Given the description of an element on the screen output the (x, y) to click on. 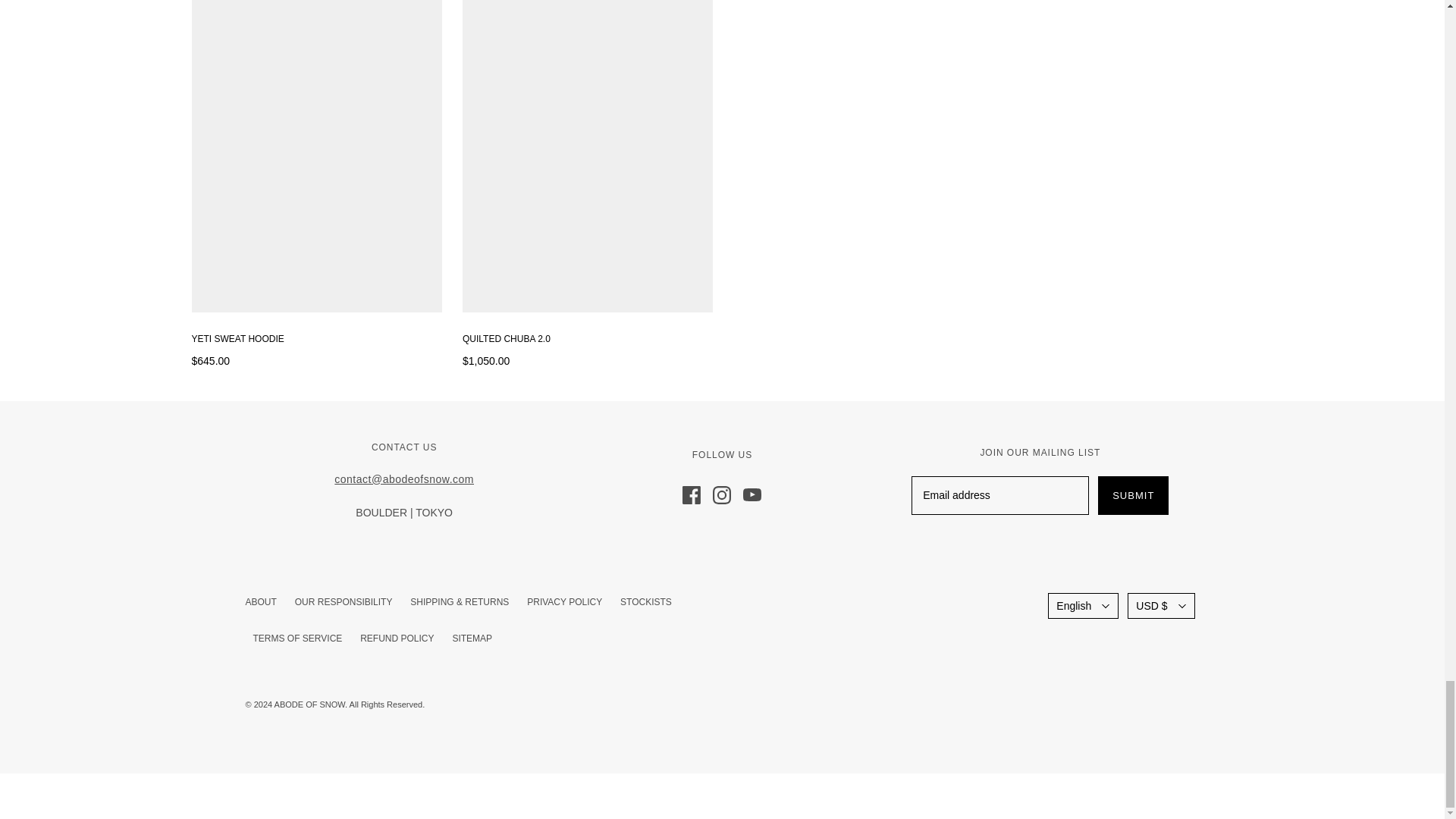
Submit (1133, 495)
